Given the description of an element on the screen output the (x, y) to click on. 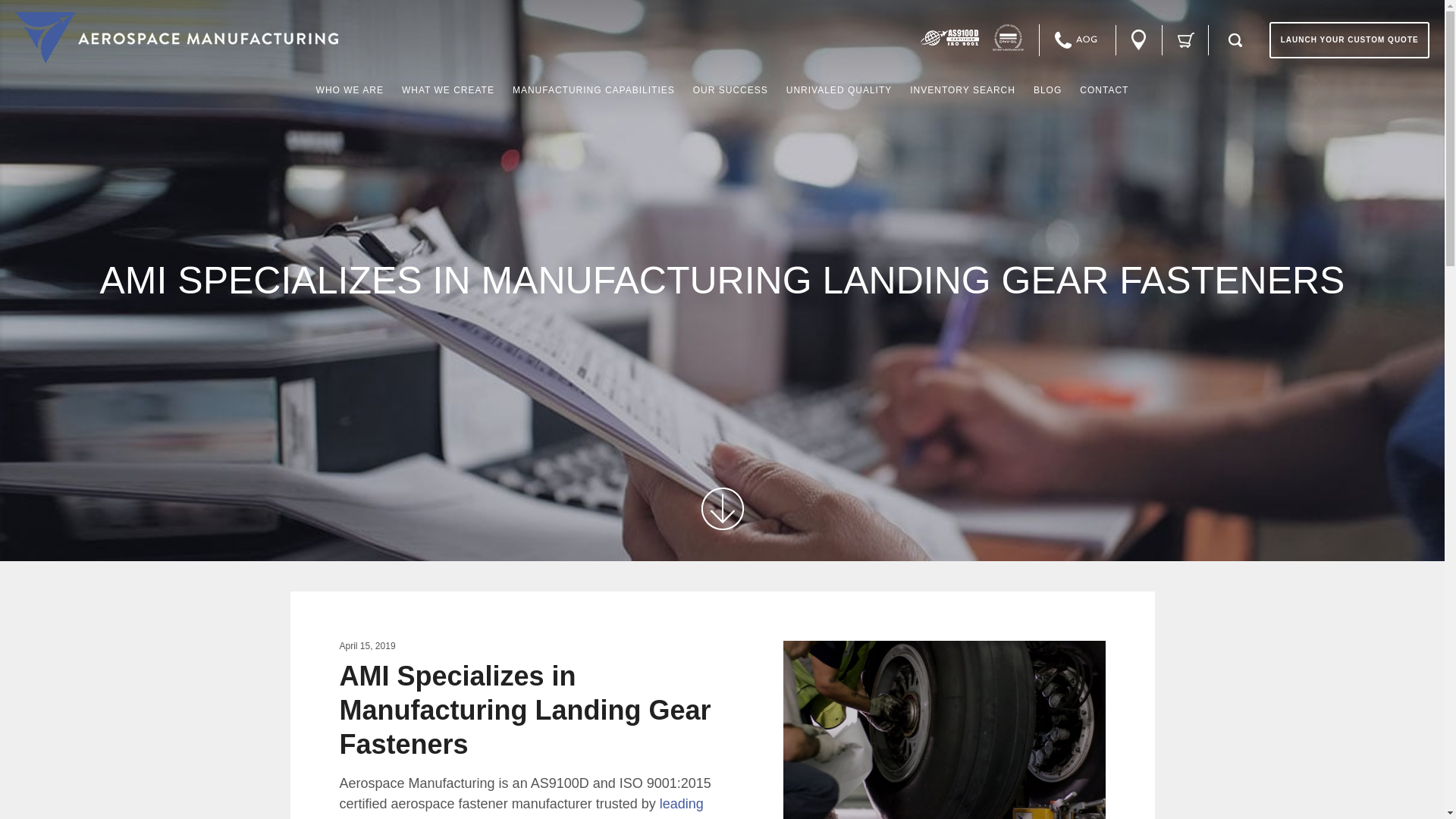
WHO WE ARE (349, 88)
Aerospace (176, 38)
WHAT WE CREATE (448, 88)
MANUFACTURING CAPABILITIES (593, 88)
AS Certificate (949, 37)
LAUNCH YOUR CUSTOM QUOTE (1349, 40)
UNRIVALED QUALITY (838, 88)
DNV-GL (1007, 37)
AMI Specializes in Manufacturing Landing Gear Fasteners (944, 729)
INVENTORY SEARCH (962, 88)
